Given the description of an element on the screen output the (x, y) to click on. 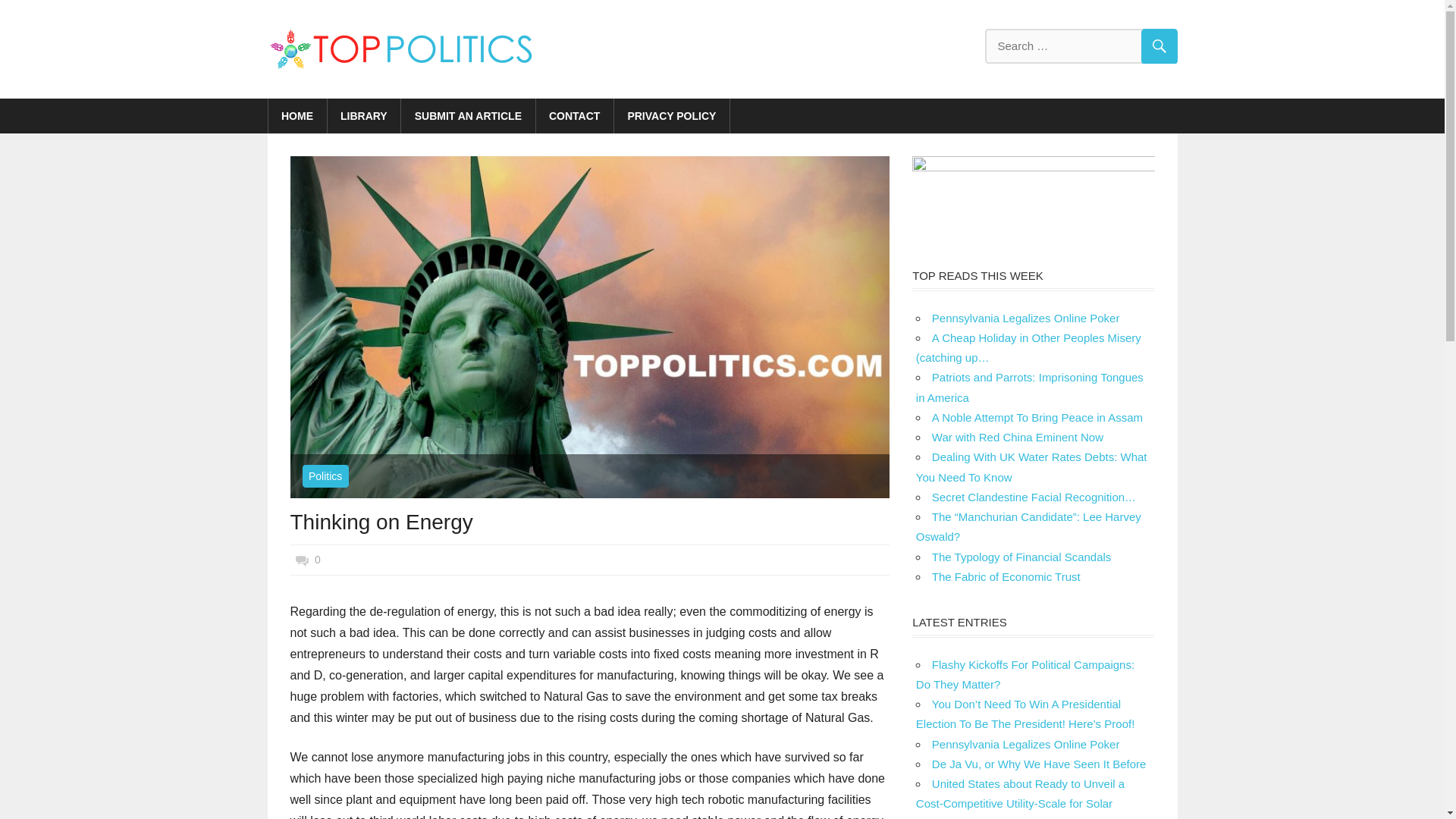
De Ja Vu, or Why We Have Seen It Before (1039, 763)
Dealing With UK Water Rates Debts: What You Need To Know (1031, 466)
CONTACT (573, 115)
Patriots and Parrots: Imprisoning Tongues in America (1028, 387)
Top Politics (341, 559)
HOME (297, 115)
November 17, 2014 (357, 559)
A Noble Attempt To Bring Peace in Assam (1036, 417)
Flashy Kickoffs For Political Campaigns: Do They Matter? (1024, 674)
View all posts by Top Politics (341, 559)
Pennsylvania Legalizes Online Poker (1025, 318)
Search for: (1080, 46)
The Fabric of Economic Trust (1005, 576)
War with Red China Eminent Now (1017, 436)
